Given the description of an element on the screen output the (x, y) to click on. 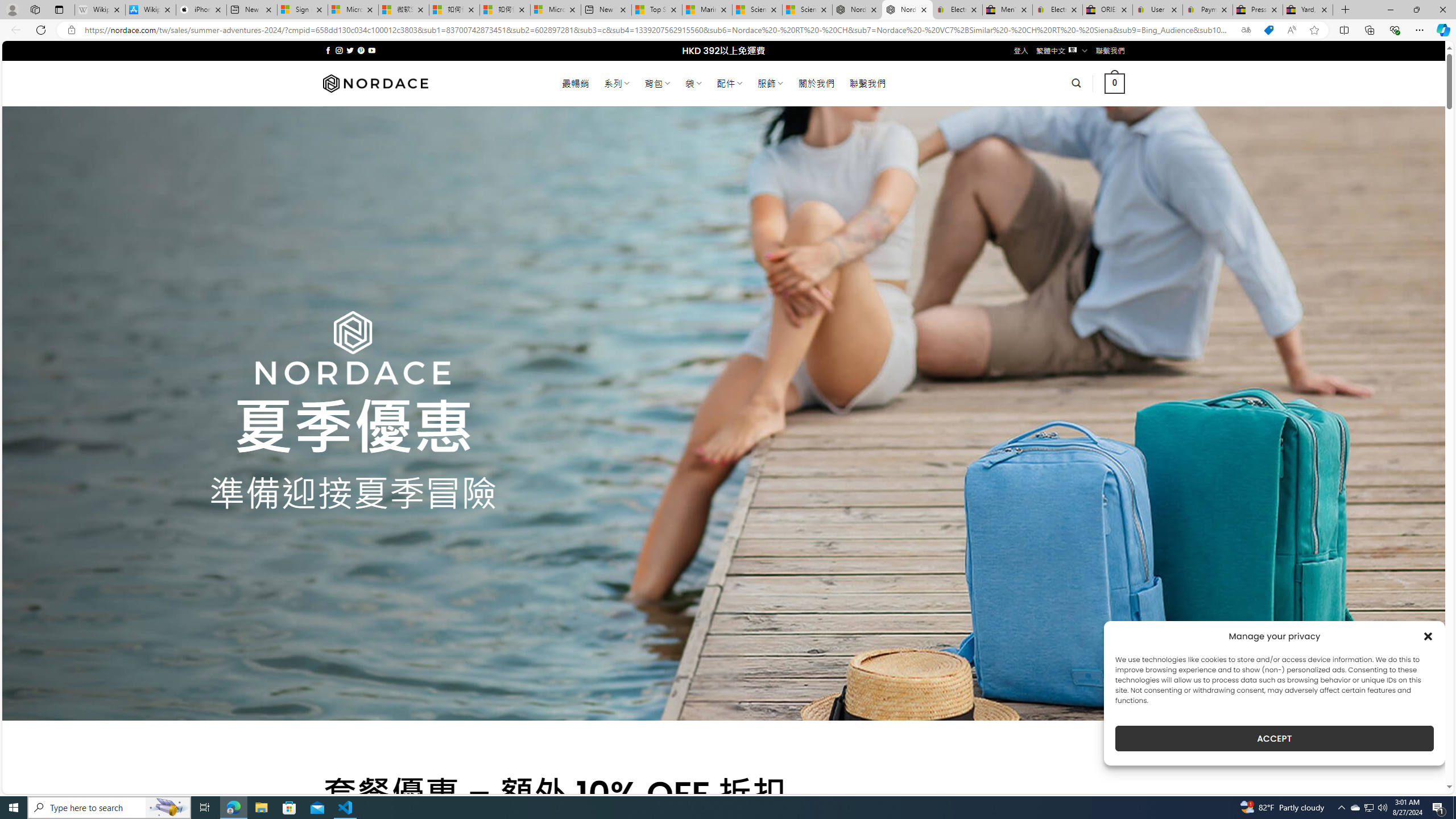
Press Room - eBay Inc. (1257, 9)
Marine life - MSN (706, 9)
